Given the description of an element on the screen output the (x, y) to click on. 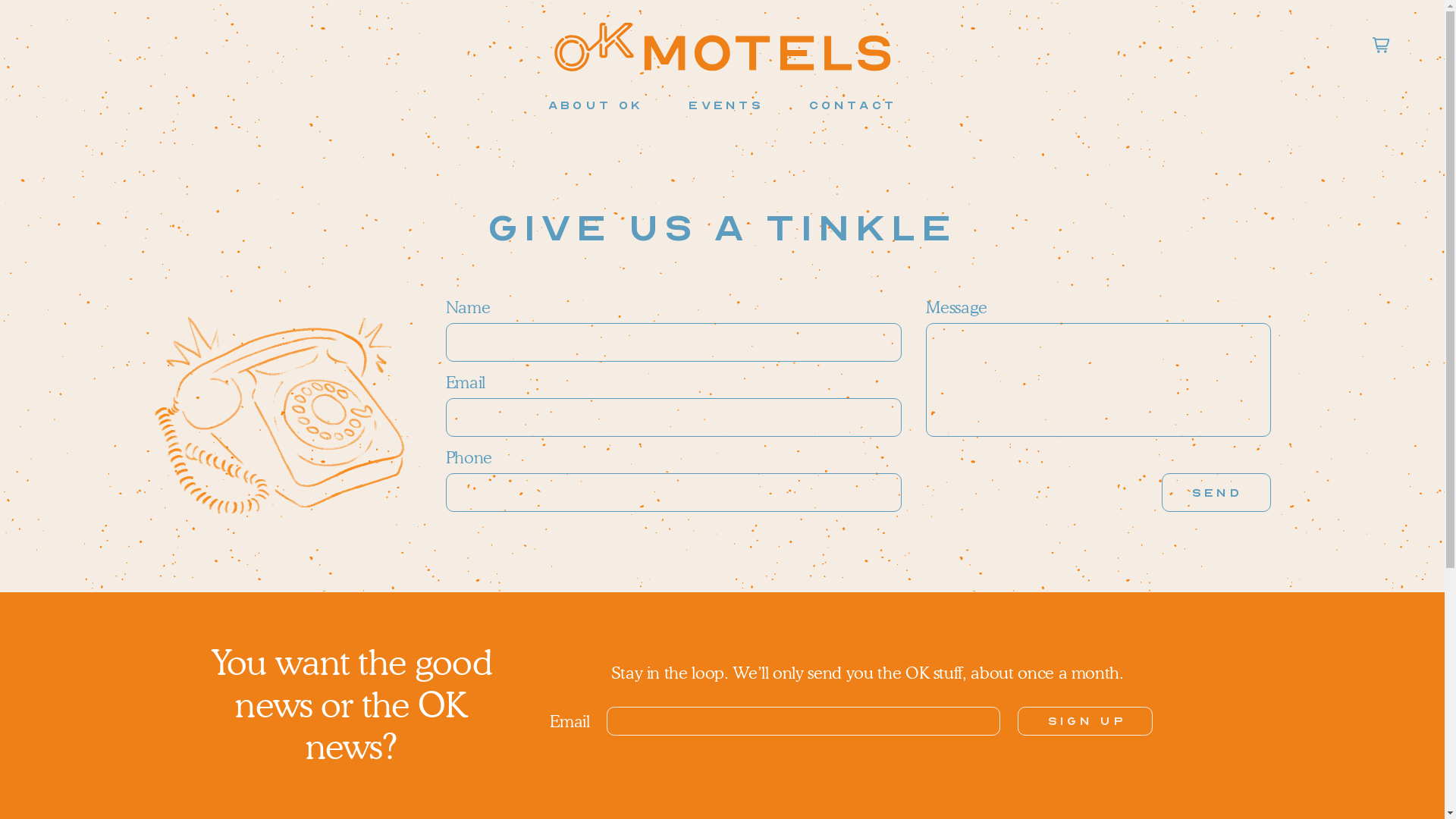
Sign Up Element type: text (1084, 720)
EVENTS Element type: text (725, 104)
Send Element type: text (1215, 492)
ABOUT OK Element type: text (595, 104)
CONTACT Element type: text (852, 104)
